Given the description of an element on the screen output the (x, y) to click on. 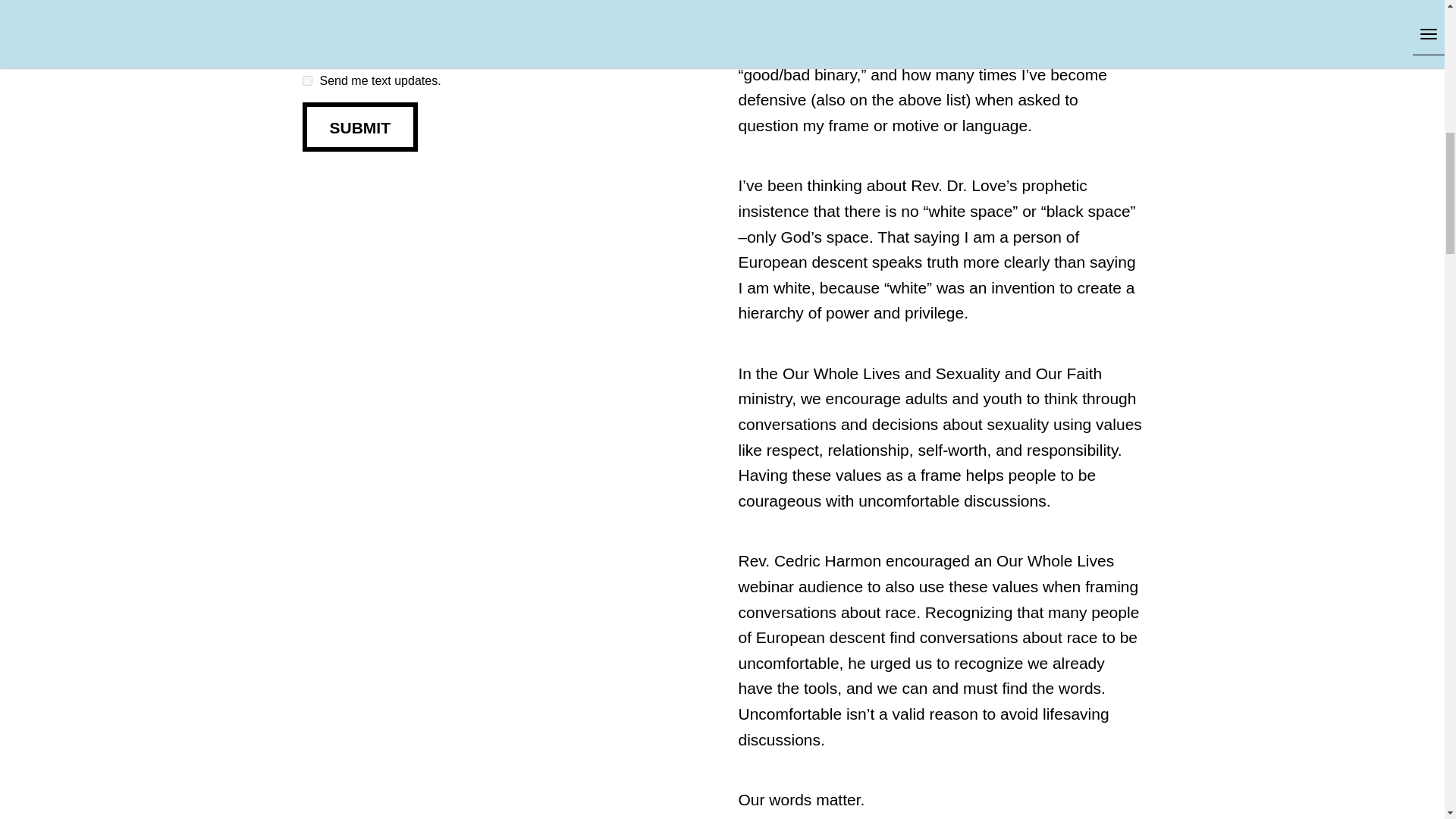
530 (306, 80)
528 (306, 17)
